Given the description of an element on the screen output the (x, y) to click on. 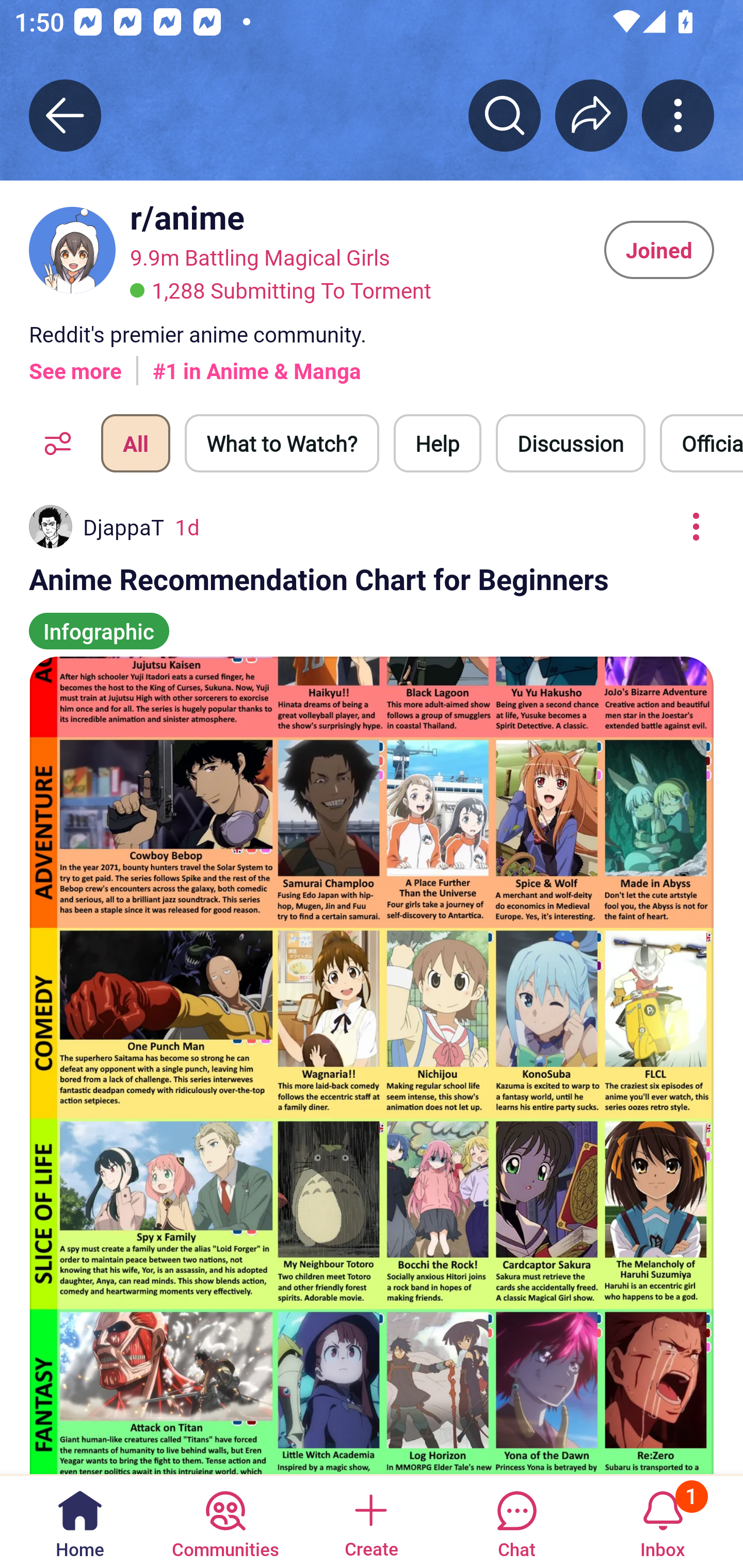
Back (64, 115)
Search r/﻿anime (504, 115)
Share r/﻿anime (591, 115)
More community actions (677, 115)
Feed Options (53, 442)
All (135, 442)
What to Watch? (281, 442)
Help (437, 442)
Discussion (570, 442)
Official Media (701, 442)
Infographic (98, 622)
Home (80, 1520)
Communities (225, 1520)
Create a post Create (370, 1520)
Chat (516, 1520)
Inbox, has 1 notification 1 Inbox (662, 1520)
